Given the description of an element on the screen output the (x, y) to click on. 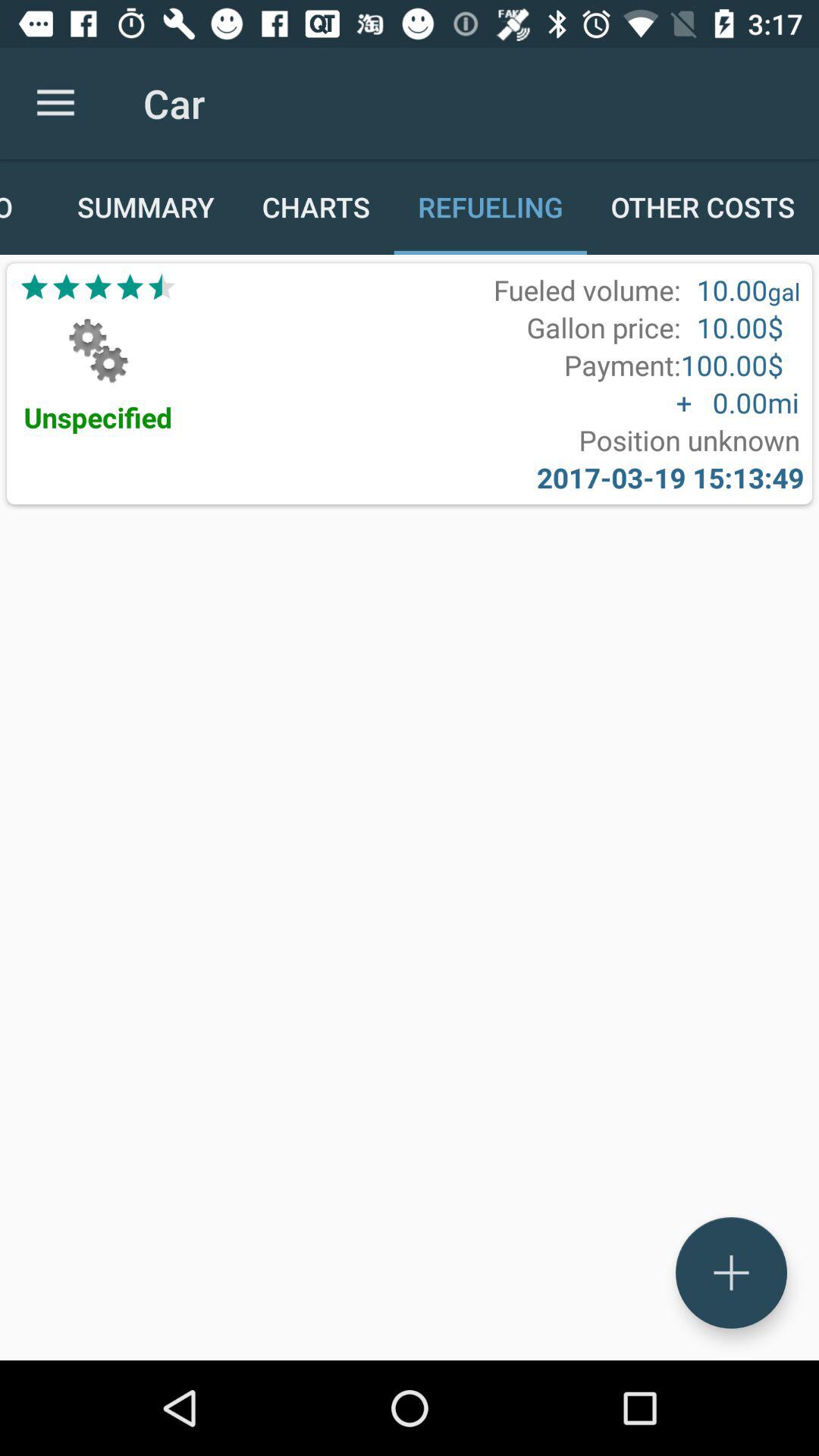
turn off the icon below the position unknown icon (670, 477)
